Given the description of an element on the screen output the (x, y) to click on. 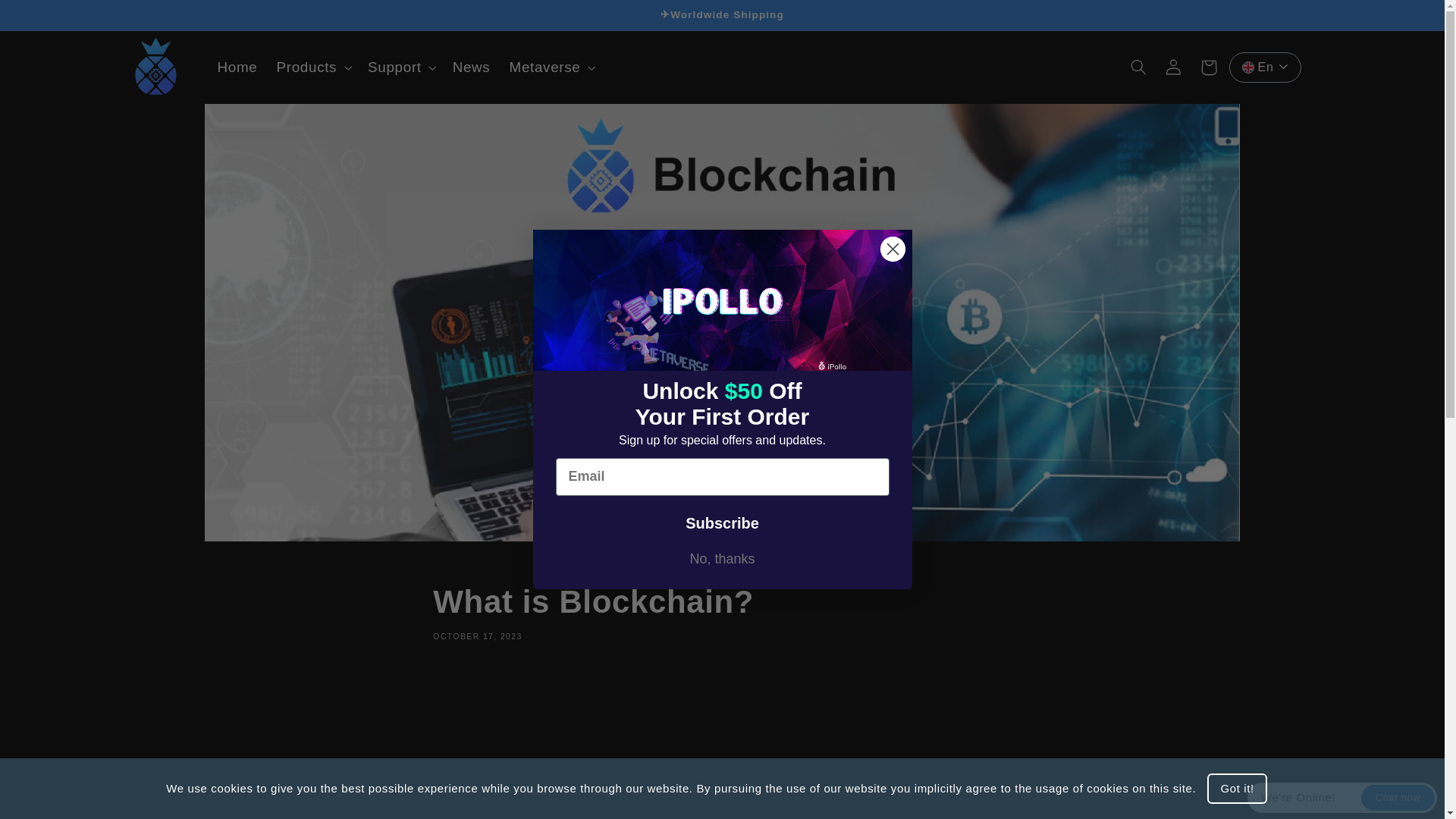
Close dialog 1 (892, 248)
Skip to content (48, 18)
Share (721, 611)
